Given the description of an element on the screen output the (x, y) to click on. 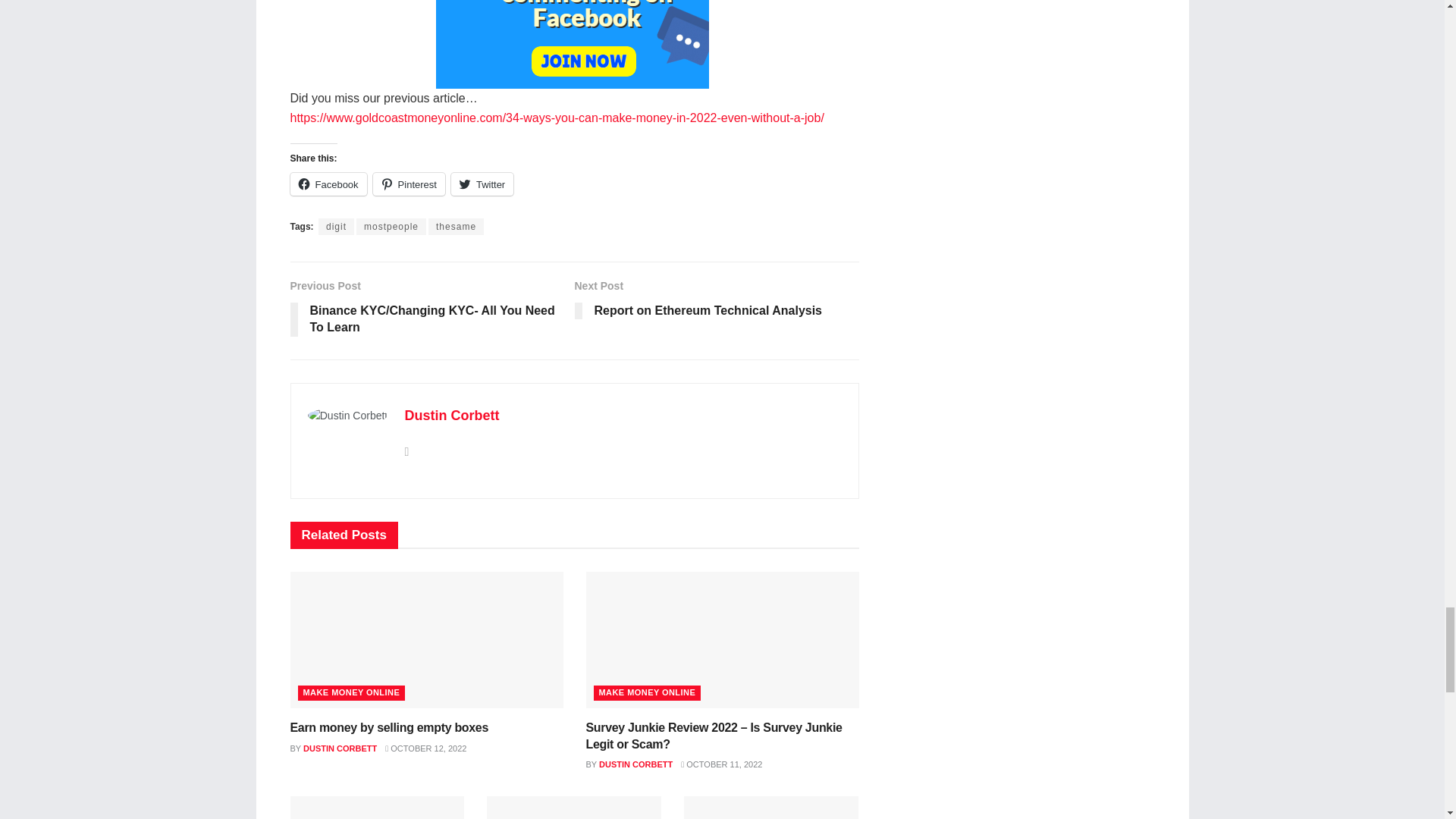
Click to share on Twitter (482, 183)
Click to share on Pinterest (408, 183)
Click to share on Facebook (327, 183)
Facebook (327, 183)
